Given the description of an element on the screen output the (x, y) to click on. 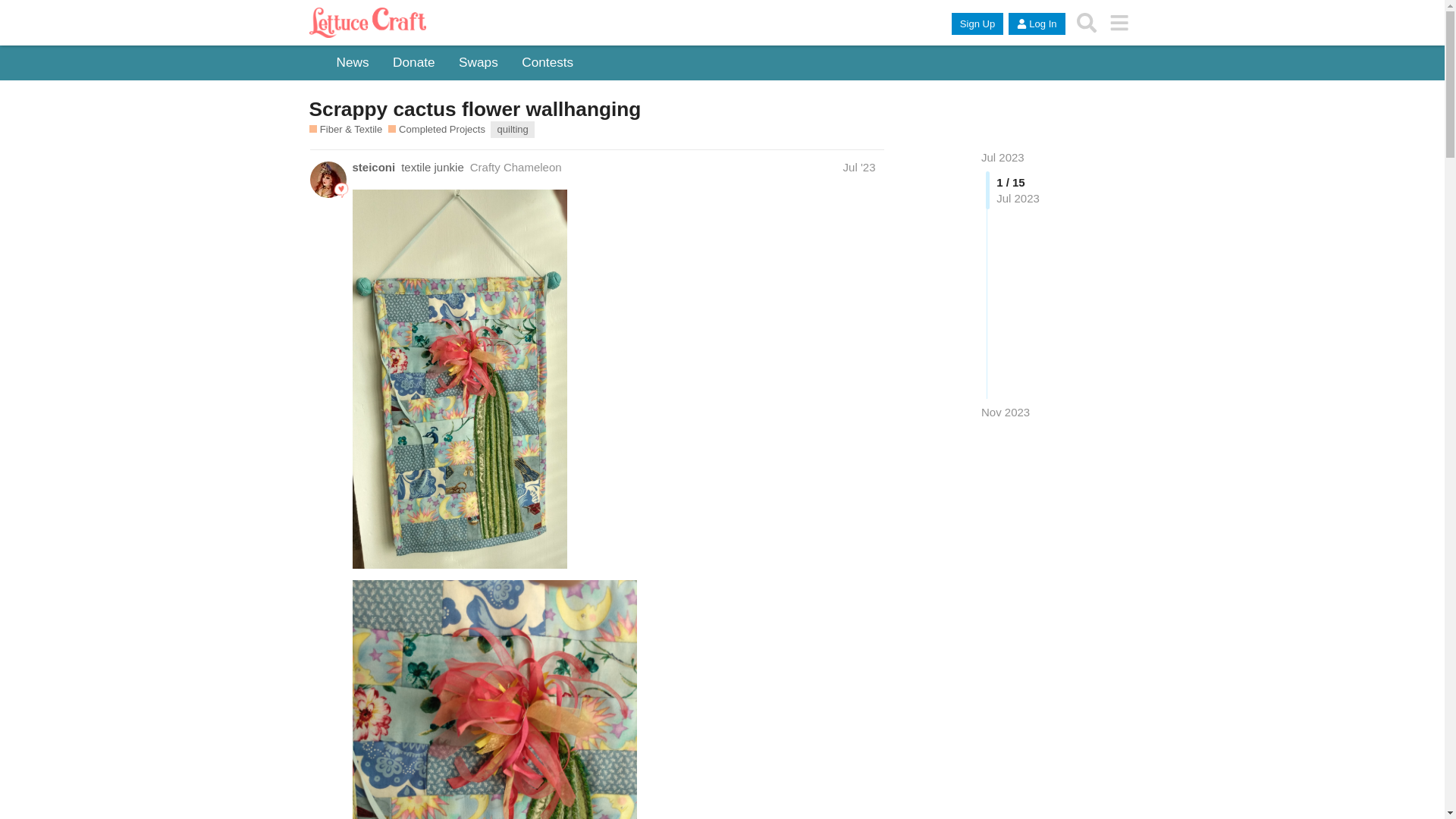
quilting (512, 129)
Jul 2023 (1003, 156)
foundingmembers (341, 190)
menu (1119, 22)
steiconi (373, 166)
Sign Up (977, 24)
Post completed projects with photos in this category. (436, 129)
Search (1086, 22)
Nov 2023 (1005, 412)
Swaps (477, 62)
Completed Projects (436, 129)
Post date (859, 166)
Donate (414, 62)
Jul 2023 (1003, 156)
Nov 12, 2023 12:40 am (1005, 411)
